Given the description of an element on the screen output the (x, y) to click on. 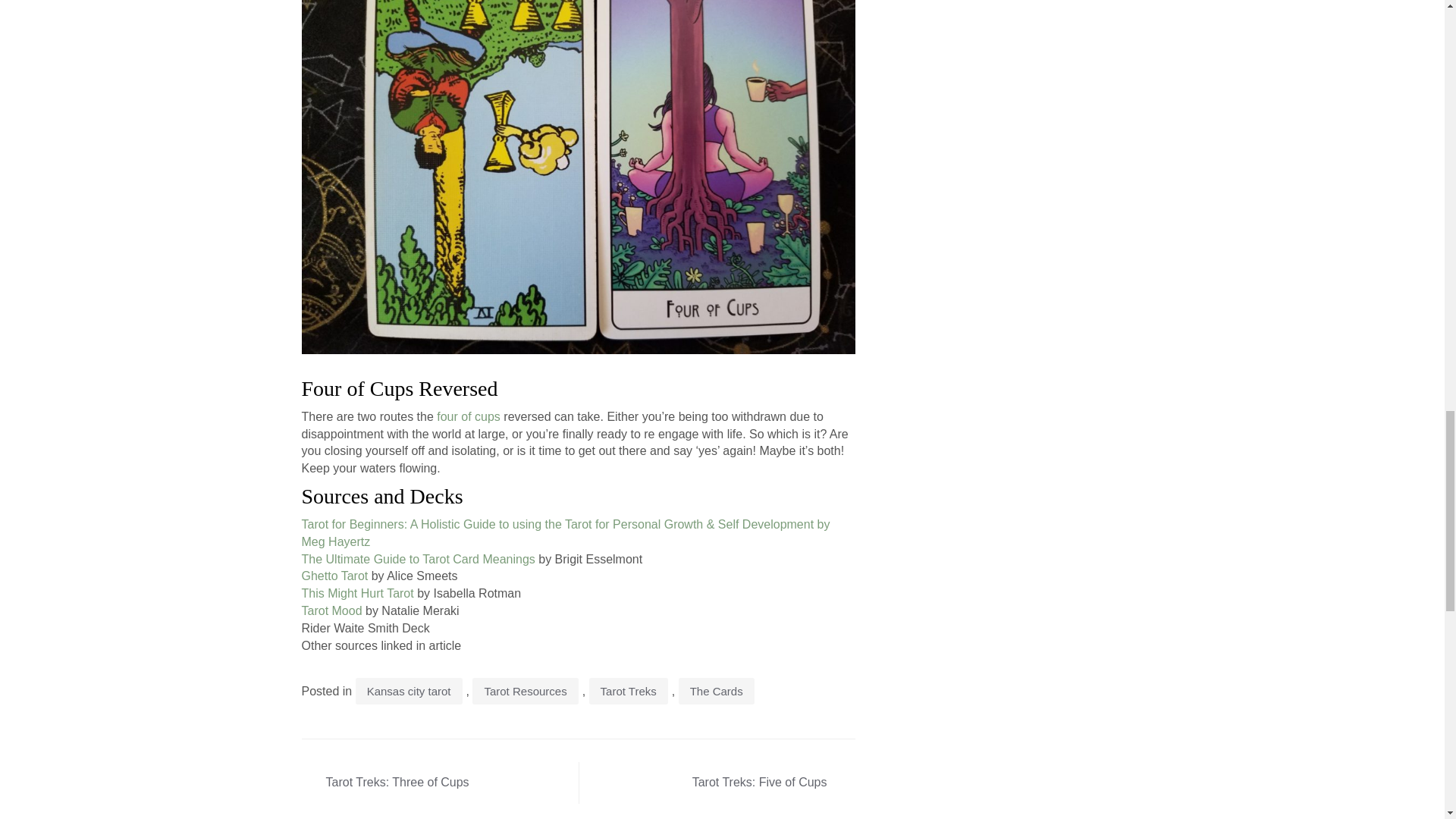
Ghetto Tarot (334, 575)
four of cups (468, 416)
The Ultimate Guide to Tarot Card Meanings (418, 558)
This Might Hurt Tarot (357, 593)
